Given the description of an element on the screen output the (x, y) to click on. 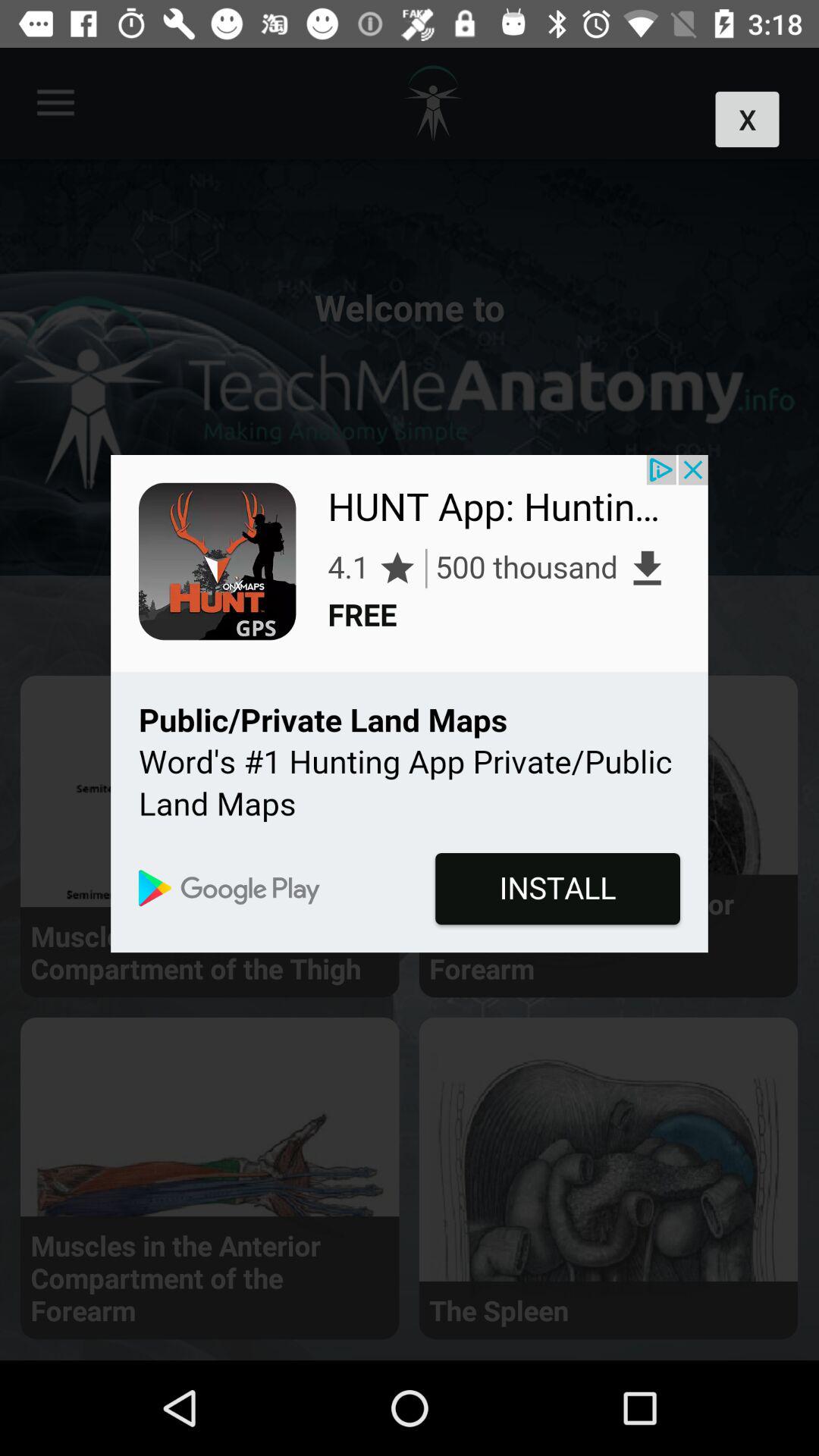
install button (409, 703)
